Given the description of an element on the screen output the (x, y) to click on. 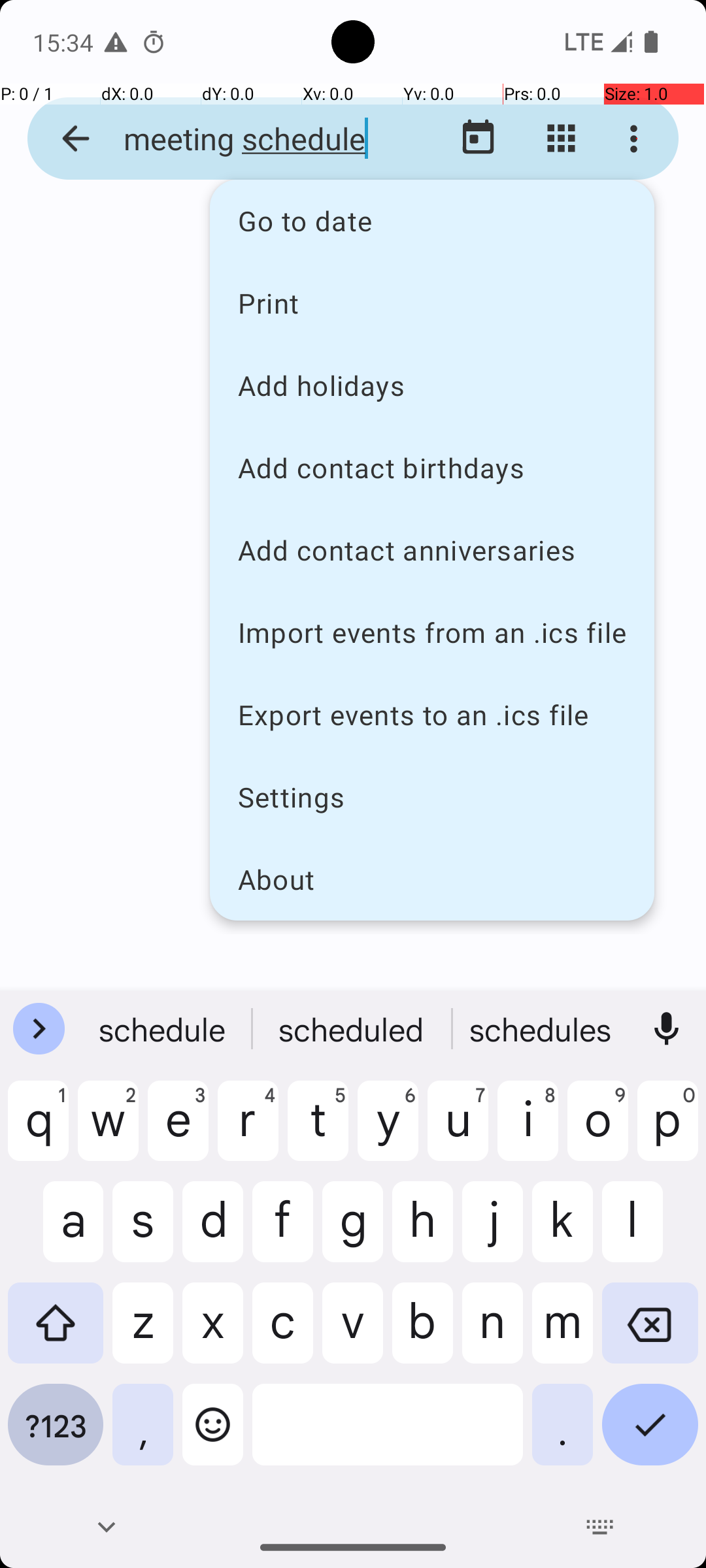
Go to date Element type: android.widget.TextView (431, 220)
Print Element type: android.widget.TextView (431, 302)
Add holidays Element type: android.widget.TextView (431, 384)
Add contact birthdays Element type: android.widget.TextView (431, 467)
Add contact anniversaries Element type: android.widget.TextView (431, 549)
Import events from an .ics file Element type: android.widget.TextView (431, 631)
Export events to an .ics file Element type: android.widget.TextView (431, 714)
